Given the description of an element on the screen output the (x, y) to click on. 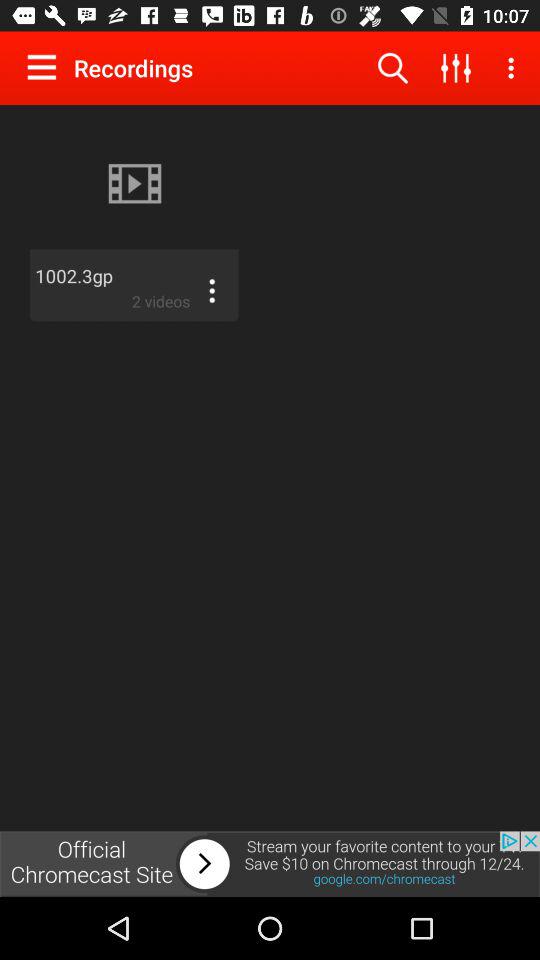
open options (211, 291)
